Given the description of an element on the screen output the (x, y) to click on. 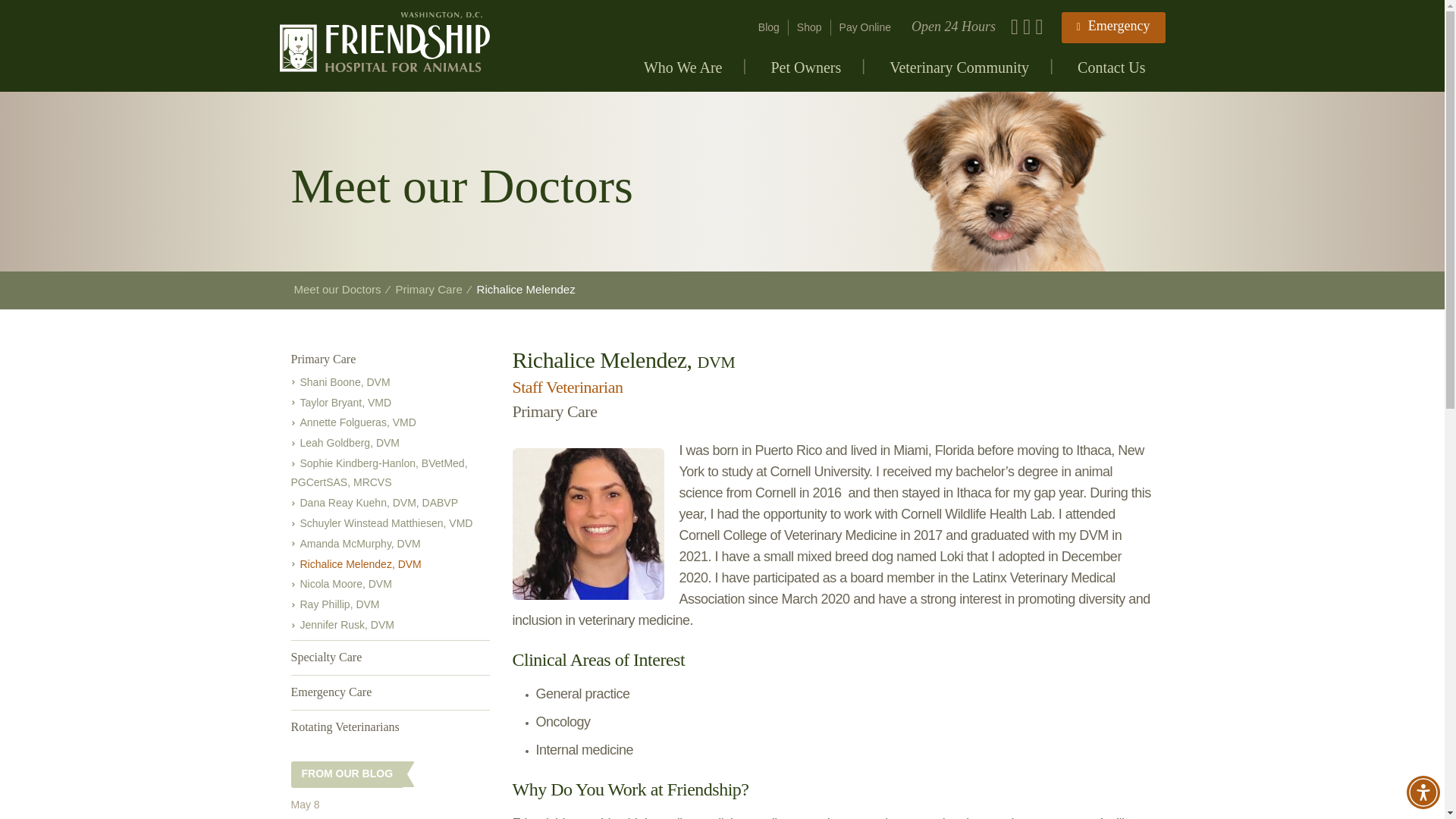
Pet Owners (805, 73)
Veterinary Community (959, 73)
Go to Meet our Doctors. (337, 288)
Accessibility Menu (1422, 792)
Go to the Primary Care Practice archives. (428, 288)
Who We Are (683, 73)
